Given the description of an element on the screen output the (x, y) to click on. 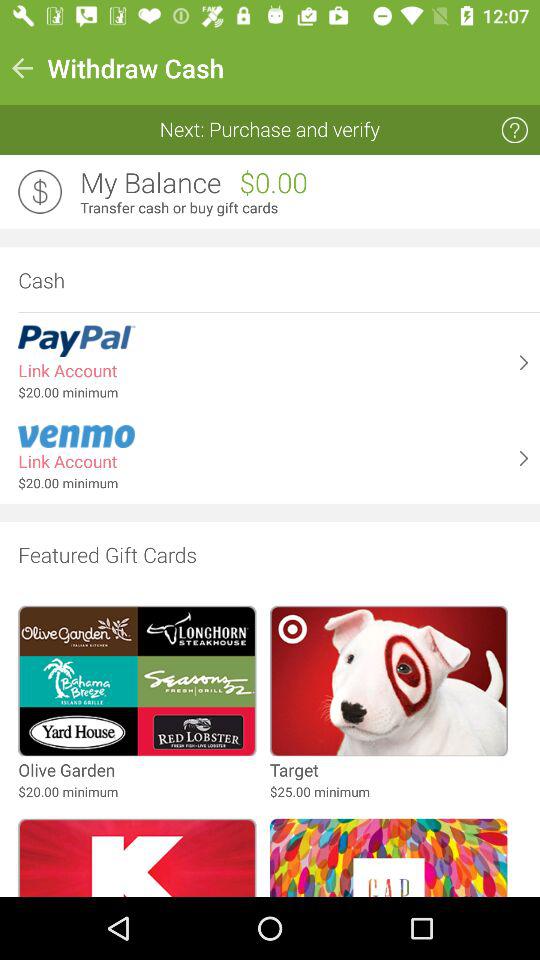
press the icon below next purchase and item (150, 183)
